Given the description of an element on the screen output the (x, y) to click on. 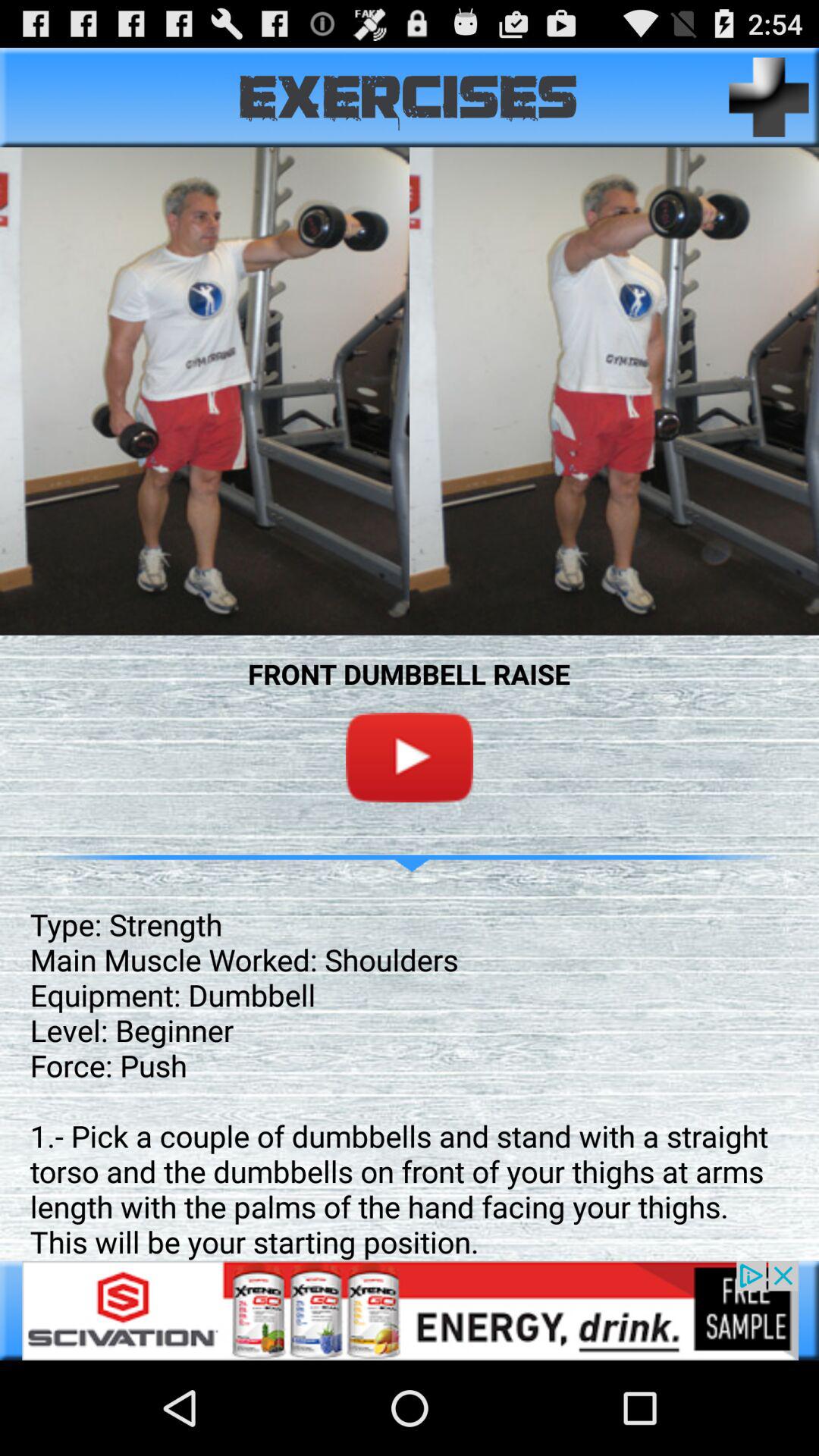
add exercise (768, 97)
